Given the description of an element on the screen output the (x, y) to click on. 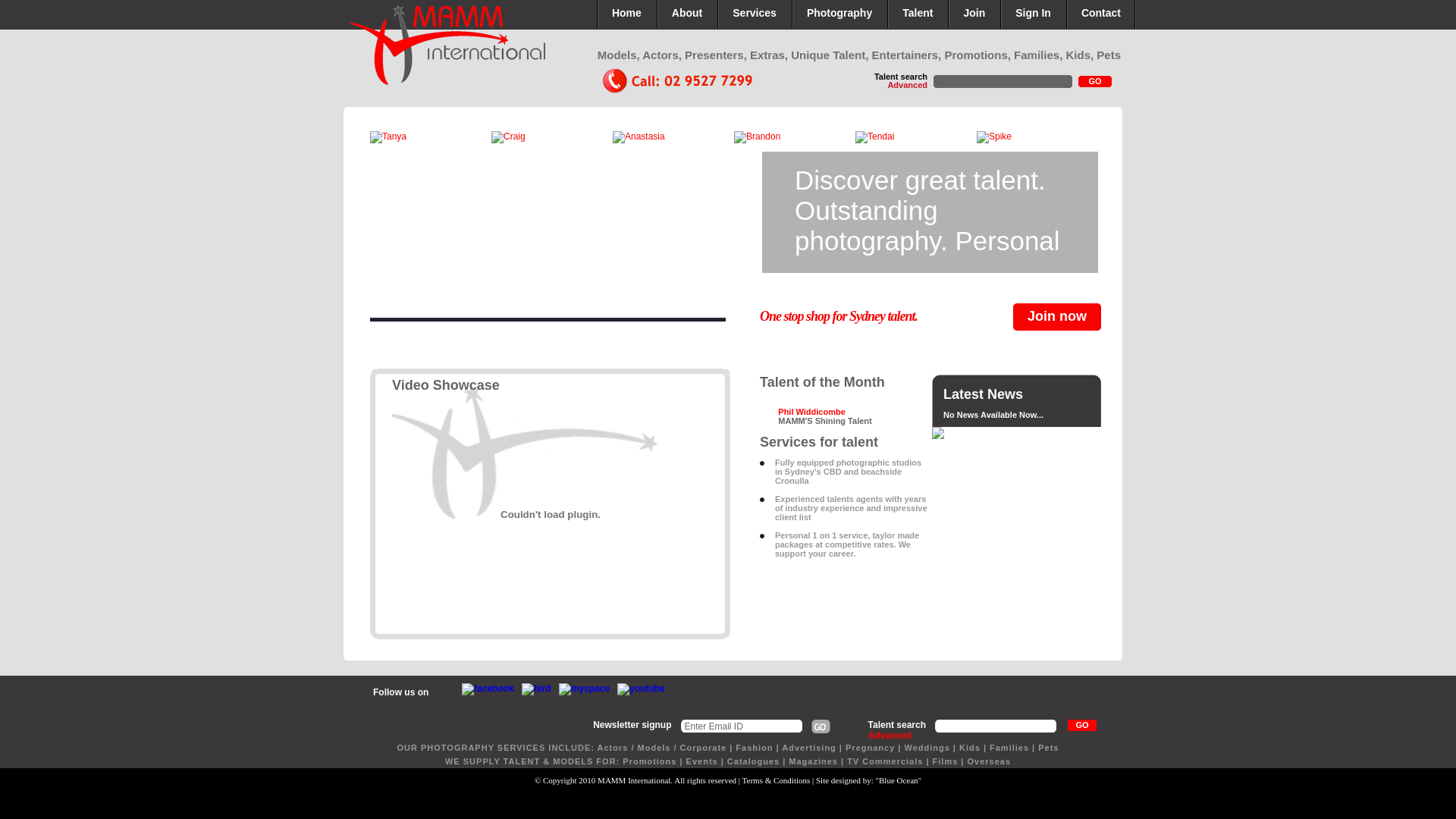
Photography Element type: text (839, 14)
Terms & Conditions Element type: text (776, 779)
GO Element type: text (1081, 725)
Talent Element type: text (917, 14)
Home Element type: text (626, 14)
Join Element type: text (973, 14)
Advanced Element type: text (907, 84)
Services Element type: text (754, 14)
About Element type: text (686, 14)
Sign In Element type: text (1033, 14)
GO Element type: text (1094, 81)
Advanced Element type: text (889, 735)
Contact Element type: text (1100, 14)
Site designed by: "Blue Ocean" Element type: text (868, 779)
Join now Element type: text (1057, 316)
